Given the description of an element on the screen output the (x, y) to click on. 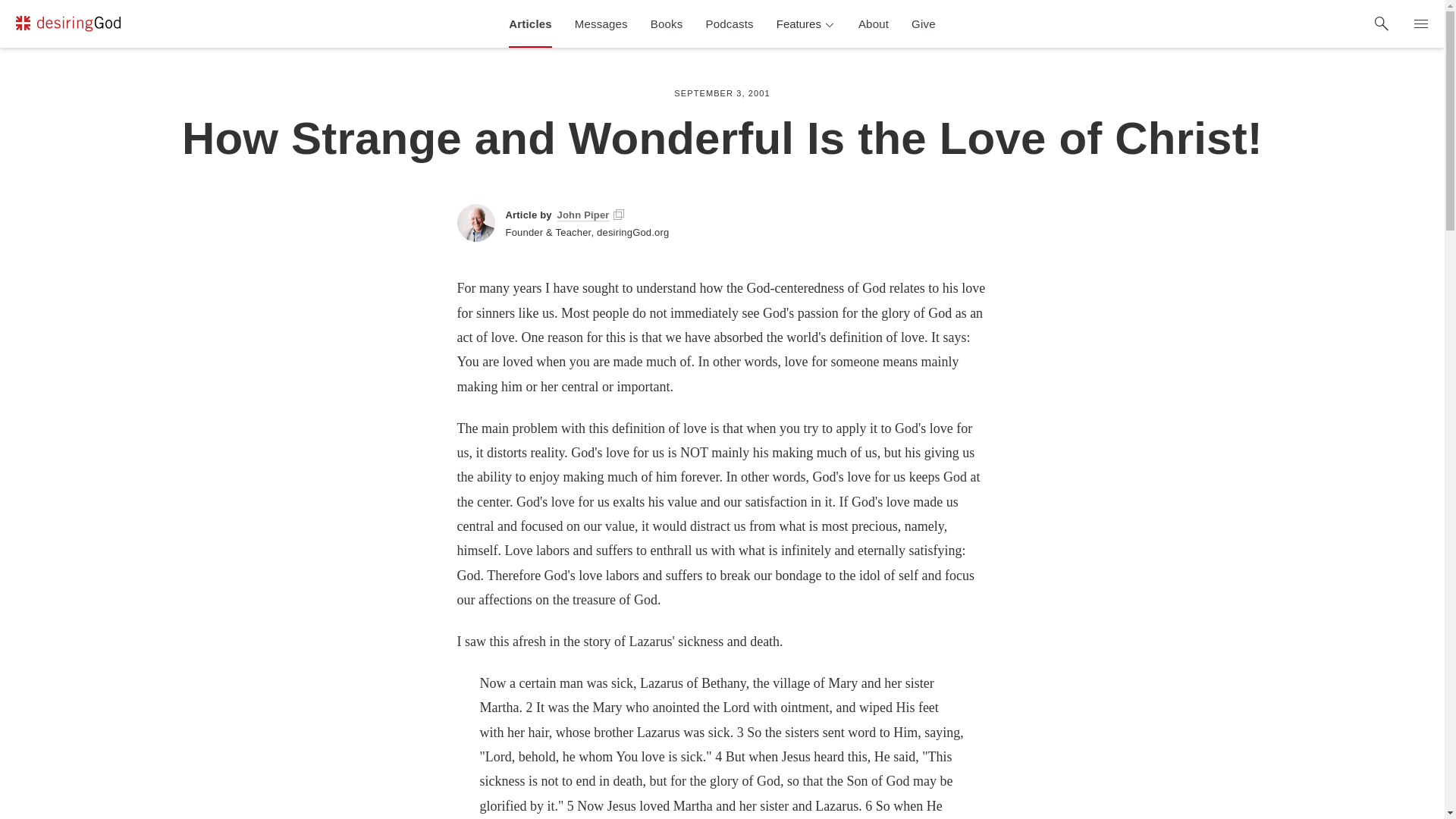
Podcasts (729, 23)
Features (806, 23)
Articles (530, 23)
Books (666, 23)
Messages (601, 23)
Desiring God Logo (67, 25)
About (873, 23)
Give (923, 23)
Desiring God Logo (67, 23)
